Given the description of an element on the screen output the (x, y) to click on. 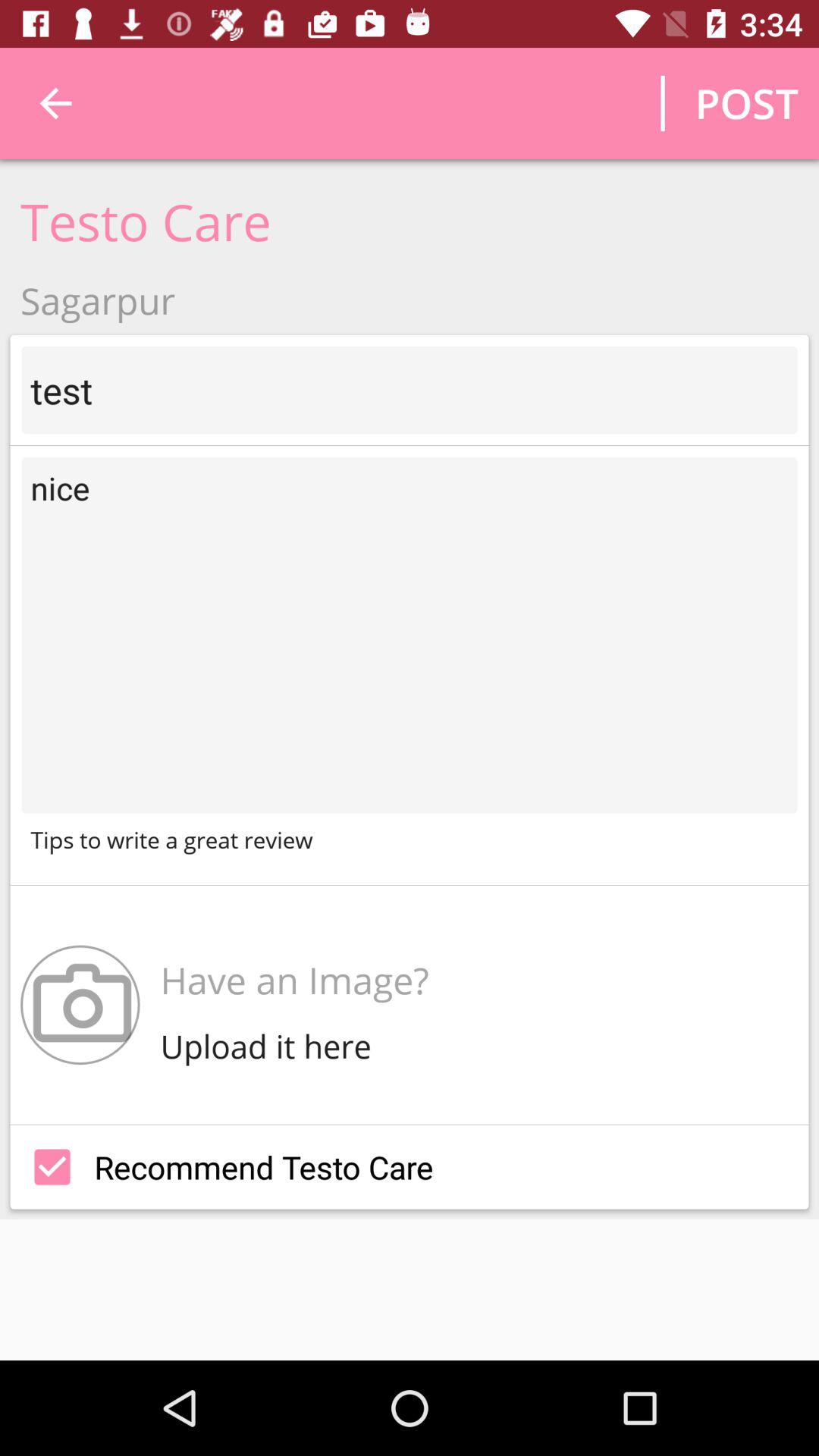
press the icon above the tips to write icon (409, 635)
